Given the description of an element on the screen output the (x, y) to click on. 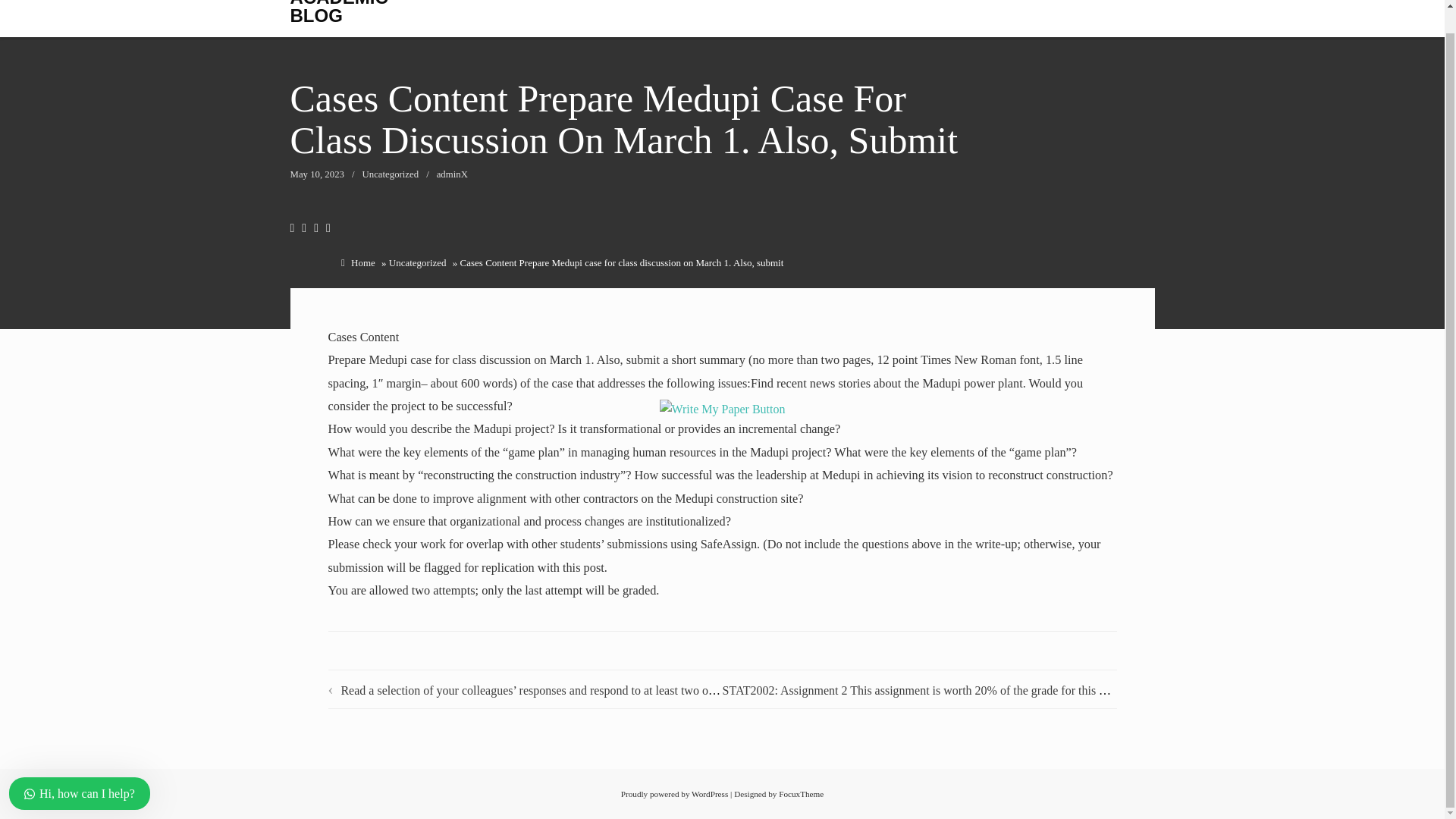
adminX (451, 173)
We Design Premium WordPress Themes (801, 793)
Posts by adminX (451, 173)
May 10, 2023 (316, 173)
FocuxTheme (801, 793)
Uncategorized (417, 262)
ACADEMIC BLOG (338, 12)
Uncategorized (390, 173)
WordPress (709, 793)
Home (362, 262)
